Given the description of an element on the screen output the (x, y) to click on. 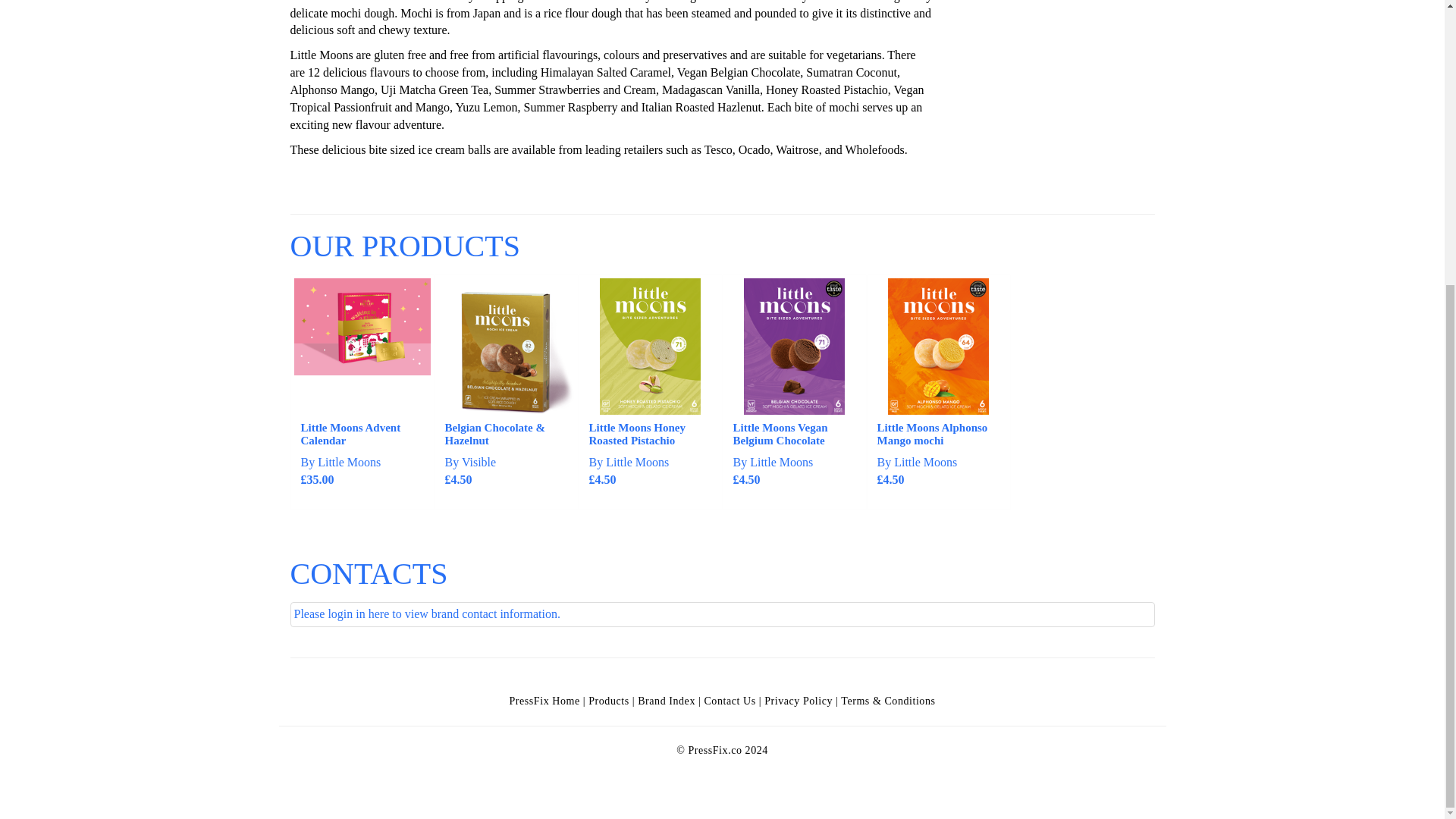
PressFix Home (544, 700)
Privacy Policy (798, 700)
Brand Index (666, 700)
Please login in here to view brand contact information. (721, 614)
Products (608, 700)
Contact Us (729, 700)
